Given the description of an element on the screen output the (x, y) to click on. 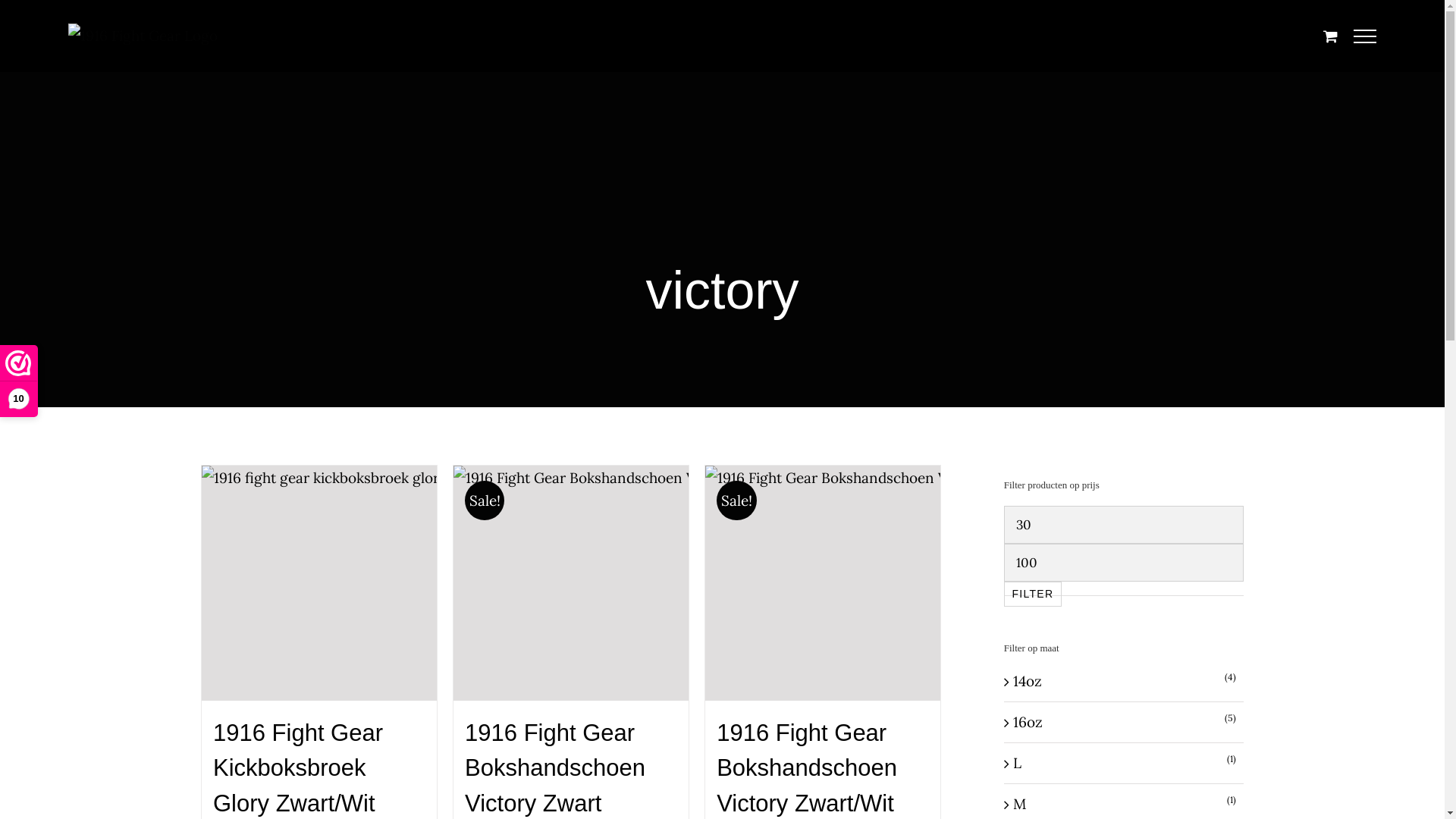
1916 Fight Gear Kickboksbroek Glory Zwart/Wit Element type: text (297, 767)
FILTER Element type: text (1032, 593)
1916 Fight Gear Bokshandschoen Victory Zwart Element type: text (554, 767)
10 Element type: text (18, 380)
M Element type: text (1019, 803)
1916 Fight Gear Bokshandschoen Victory Zwart/Wit Element type: text (806, 767)
Sale! Element type: text (822, 582)
Sale! Element type: text (570, 582)
14oz Element type: text (1027, 680)
L Element type: text (1017, 762)
16oz Element type: text (1027, 721)
